Given the description of an element on the screen output the (x, y) to click on. 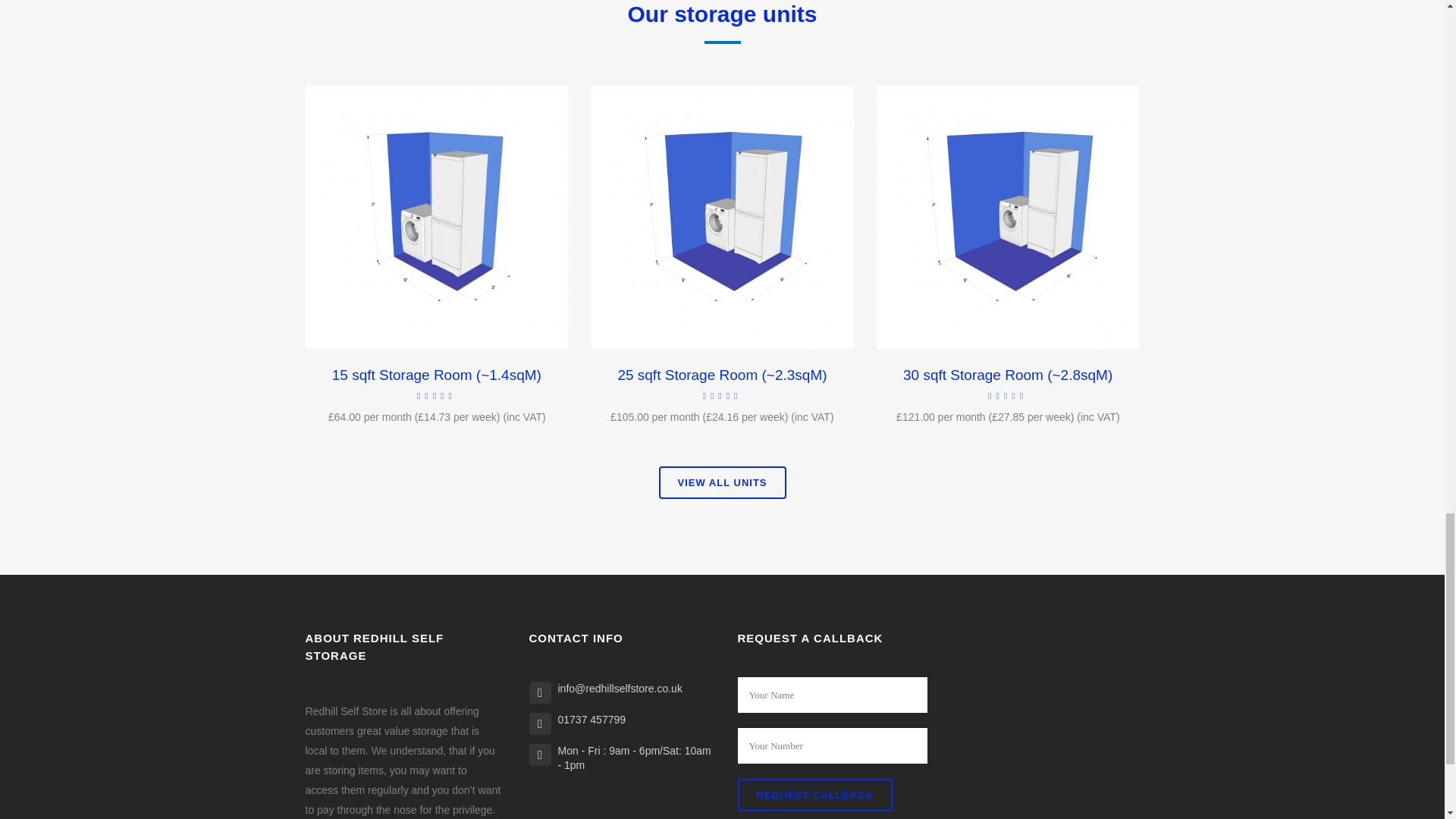
Your Name (831, 694)
Your Number (831, 745)
Request callback (814, 794)
